Given the description of an element on the screen output the (x, y) to click on. 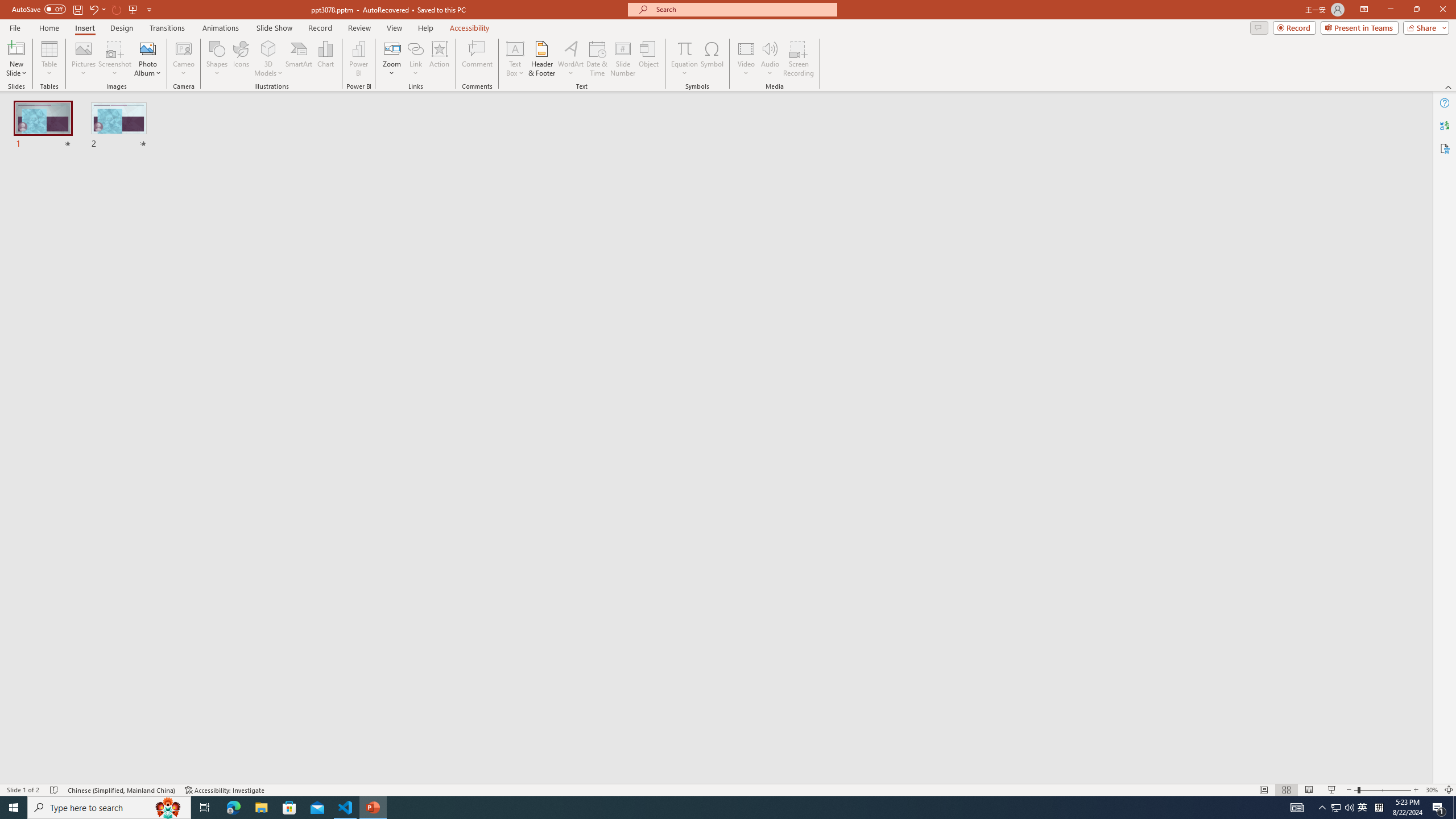
Chart... (325, 58)
Icons (240, 58)
Photo Album... (147, 58)
